Given the description of an element on the screen output the (x, y) to click on. 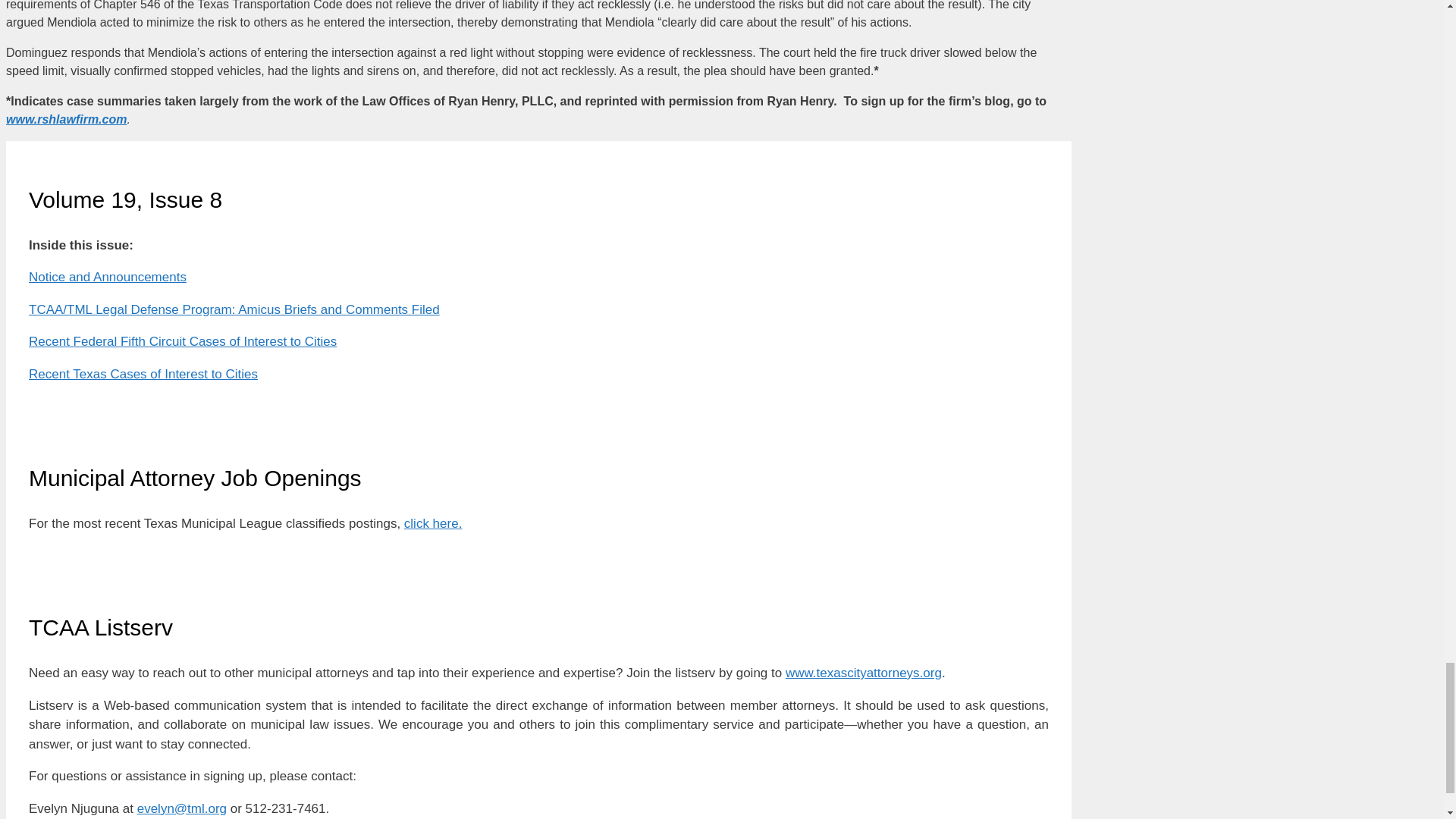
Recent Federal Fifth Circuit Cases of Interest to Cities (182, 341)
Notice and Announcements (107, 277)
www.rshlawfirm.com (65, 119)
click here. (433, 523)
Recent Texas Cases of Interest to Cities (143, 373)
www.texascityattorneys.org (864, 672)
